Given the description of an element on the screen output the (x, y) to click on. 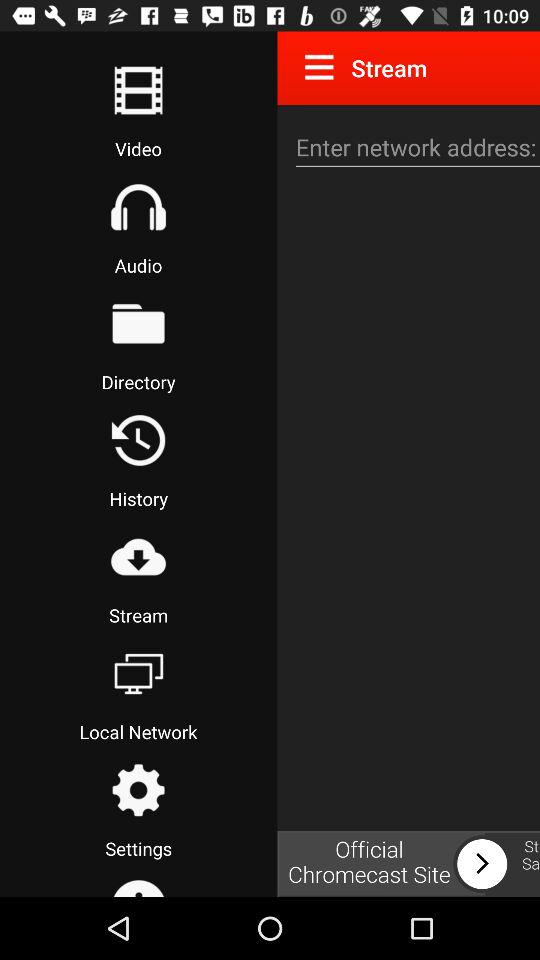
video (138, 90)
